Given the description of an element on the screen output the (x, y) to click on. 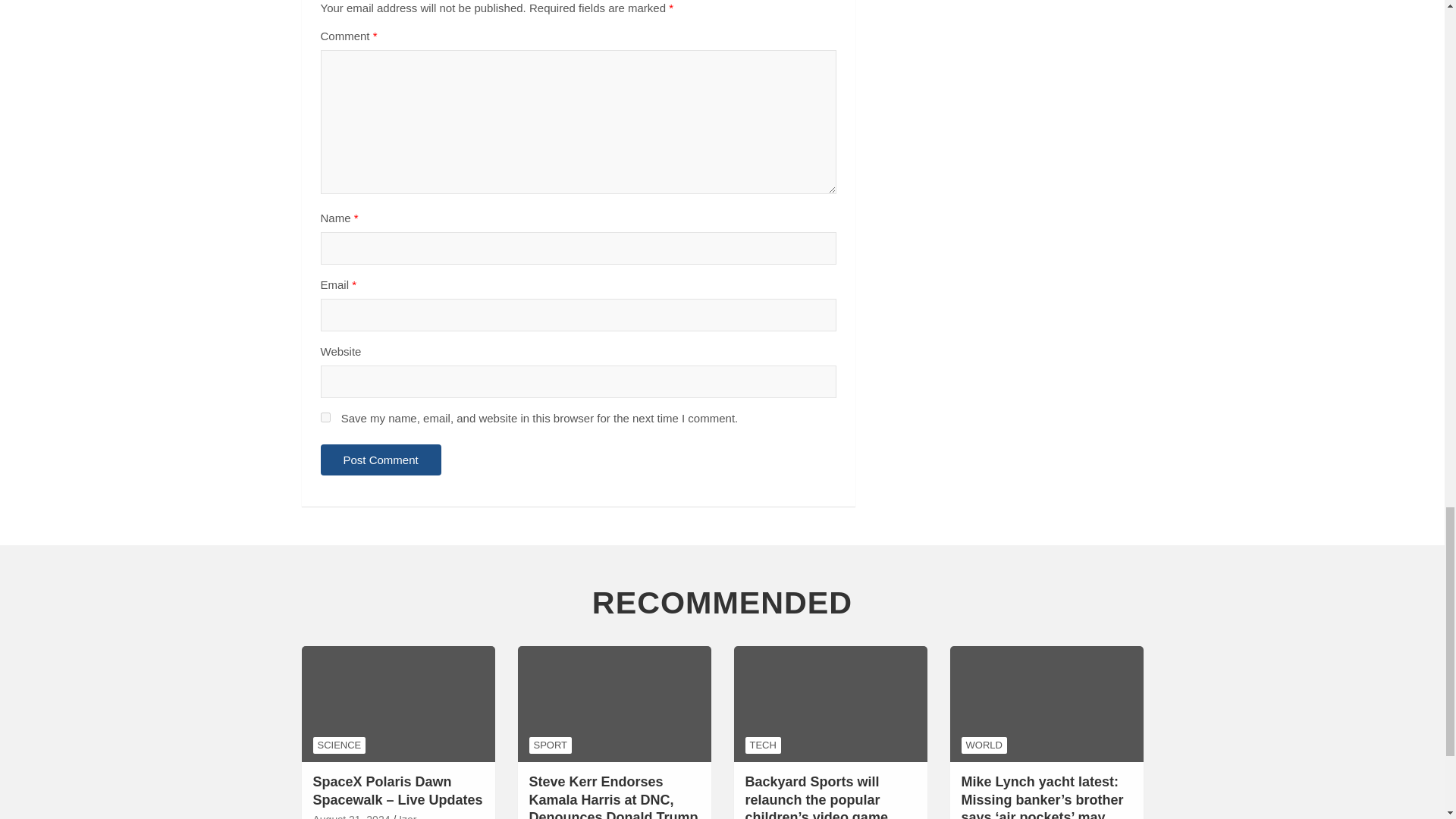
August 21, 2024 (351, 816)
Post Comment (380, 459)
yes (325, 417)
SCIENCE (339, 745)
Izer (407, 816)
Post Comment (380, 459)
